Given the description of an element on the screen output the (x, y) to click on. 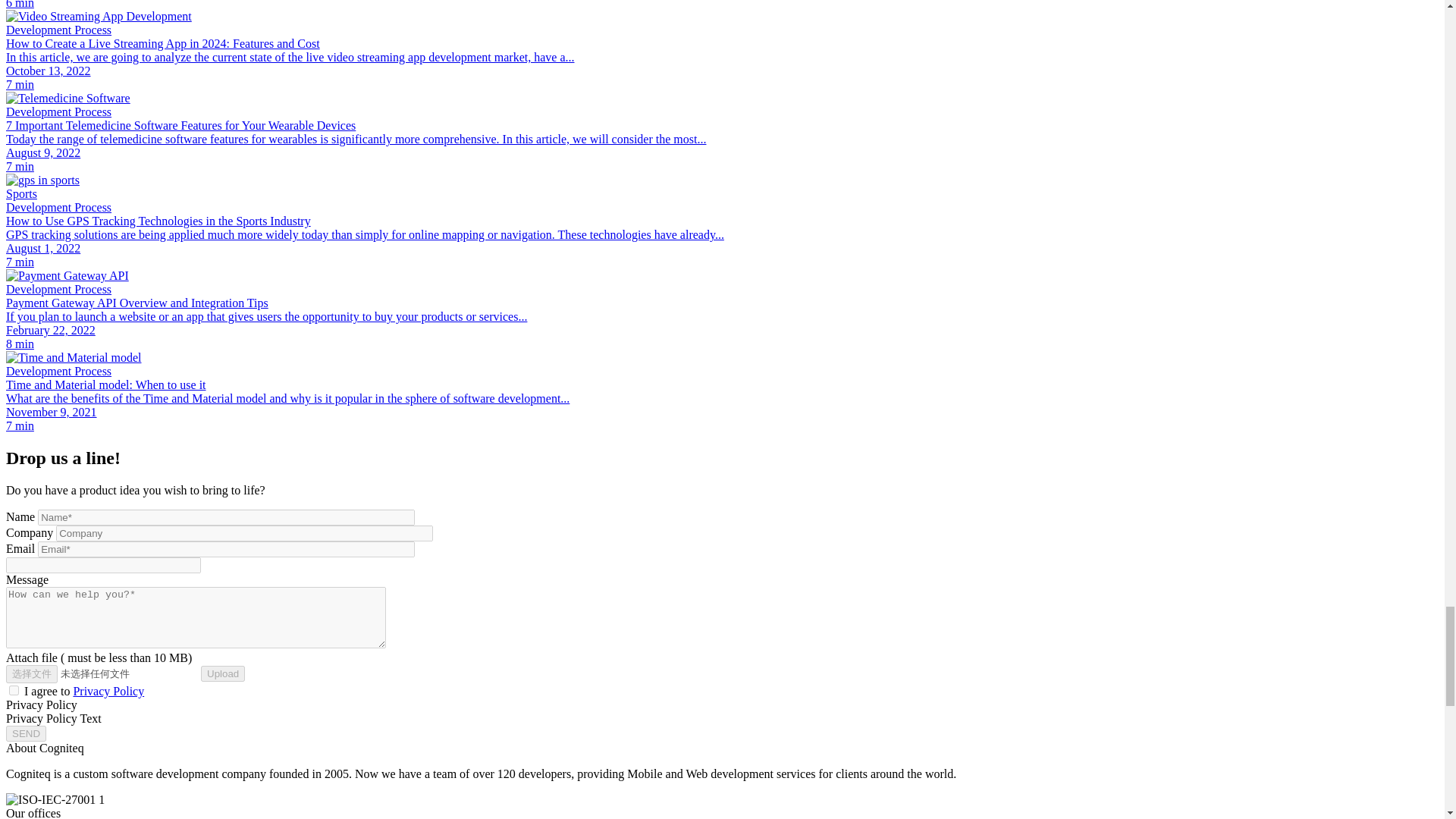
Upload (222, 673)
SEND (25, 733)
